Given the description of an element on the screen output the (x, y) to click on. 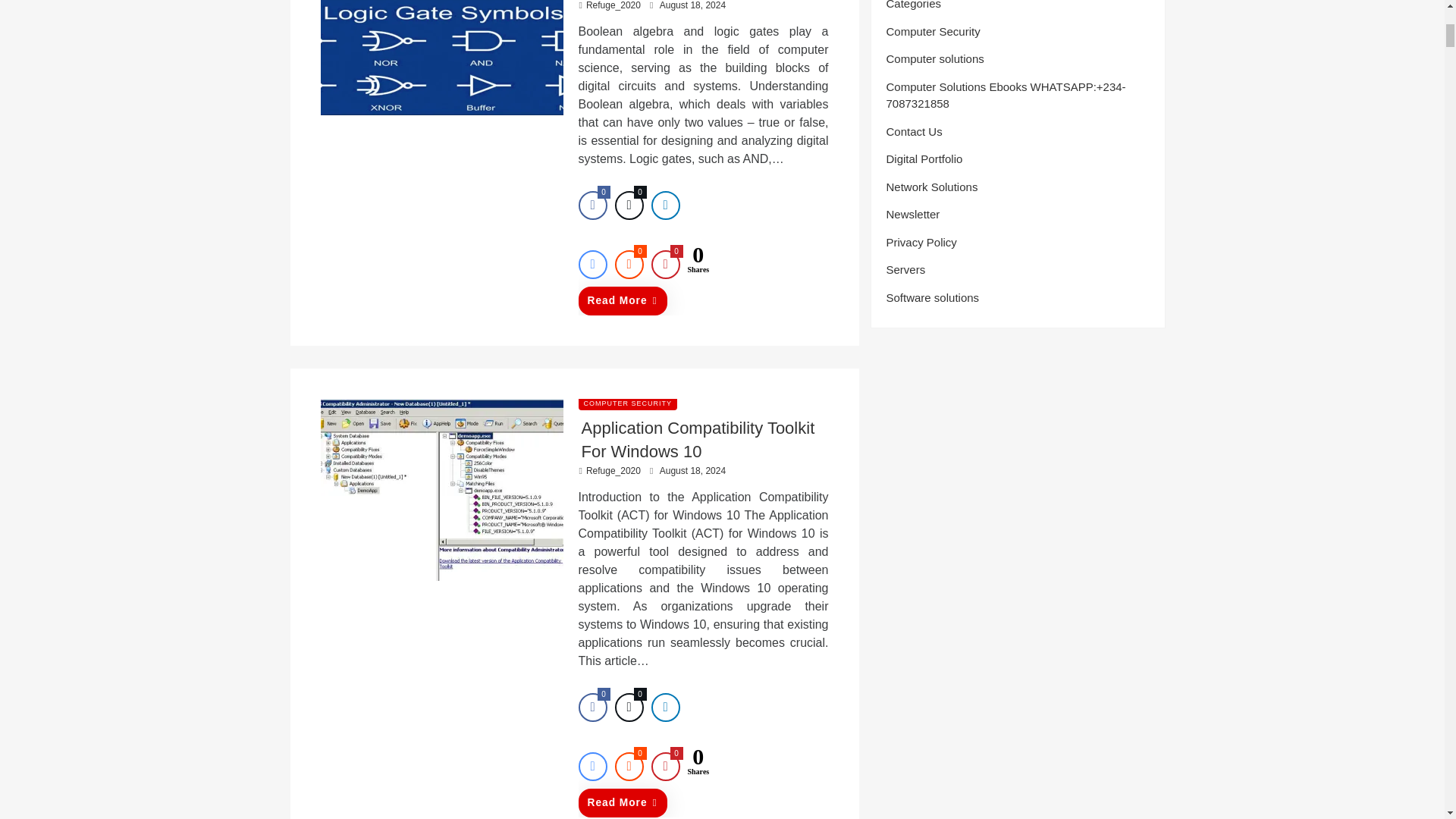
August 18, 2024 (692, 5)
Boolean Algebra And Logic Gates In Computer Science 2 (441, 57)
Application Compatibility Toolkit For Windows 10 3 (441, 489)
0 (592, 205)
